Given the description of an element on the screen output the (x, y) to click on. 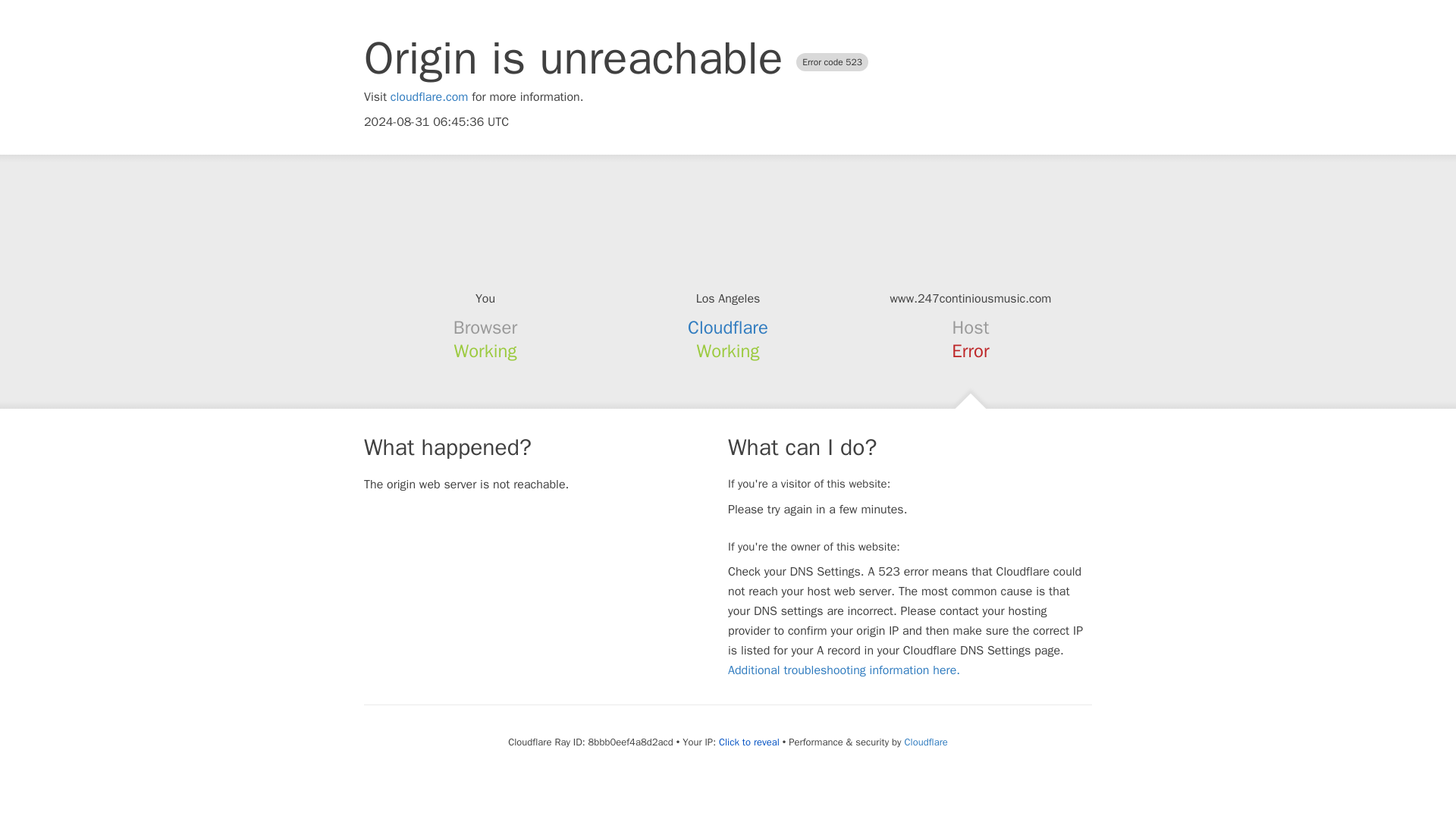
Cloudflare (925, 741)
Additional troubleshooting information here. (843, 670)
Cloudflare (727, 327)
cloudflare.com (429, 96)
Click to reveal (748, 742)
